Given the description of an element on the screen output the (x, y) to click on. 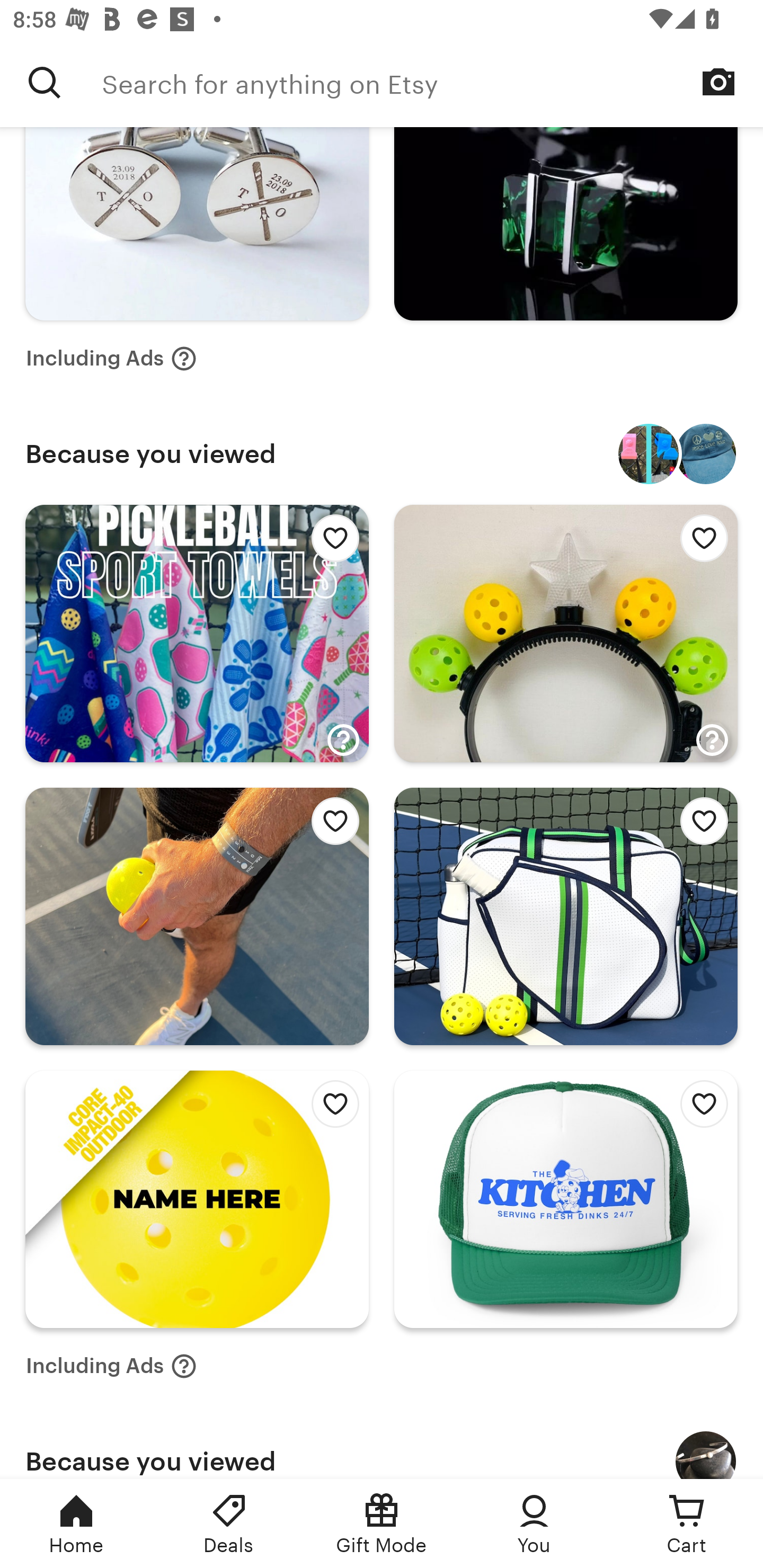
Search for anything on Etsy (44, 82)
Search by image (718, 81)
Search for anything on Etsy (432, 82)
Including Ads (111, 357)
Add Pickleball Score Band to favorites (330, 825)
Including Ads (111, 1366)
Deals (228, 1523)
Gift Mode (381, 1523)
You (533, 1523)
Cart (686, 1523)
